Given the description of an element on the screen output the (x, y) to click on. 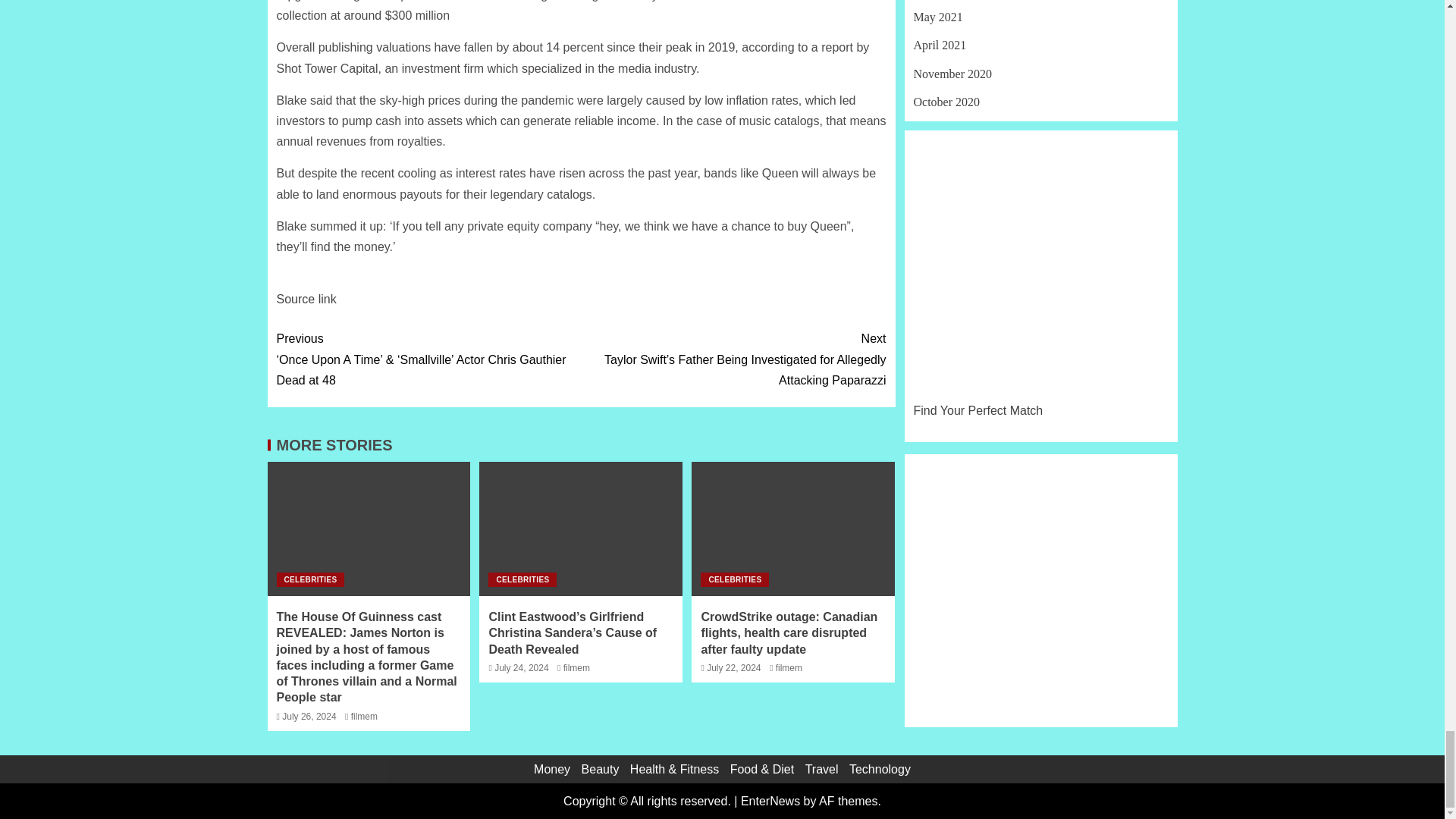
filmem (576, 667)
filmem (363, 716)
Source link (306, 298)
CELEBRITIES (521, 579)
CELEBRITIES (309, 579)
